Given the description of an element on the screen output the (x, y) to click on. 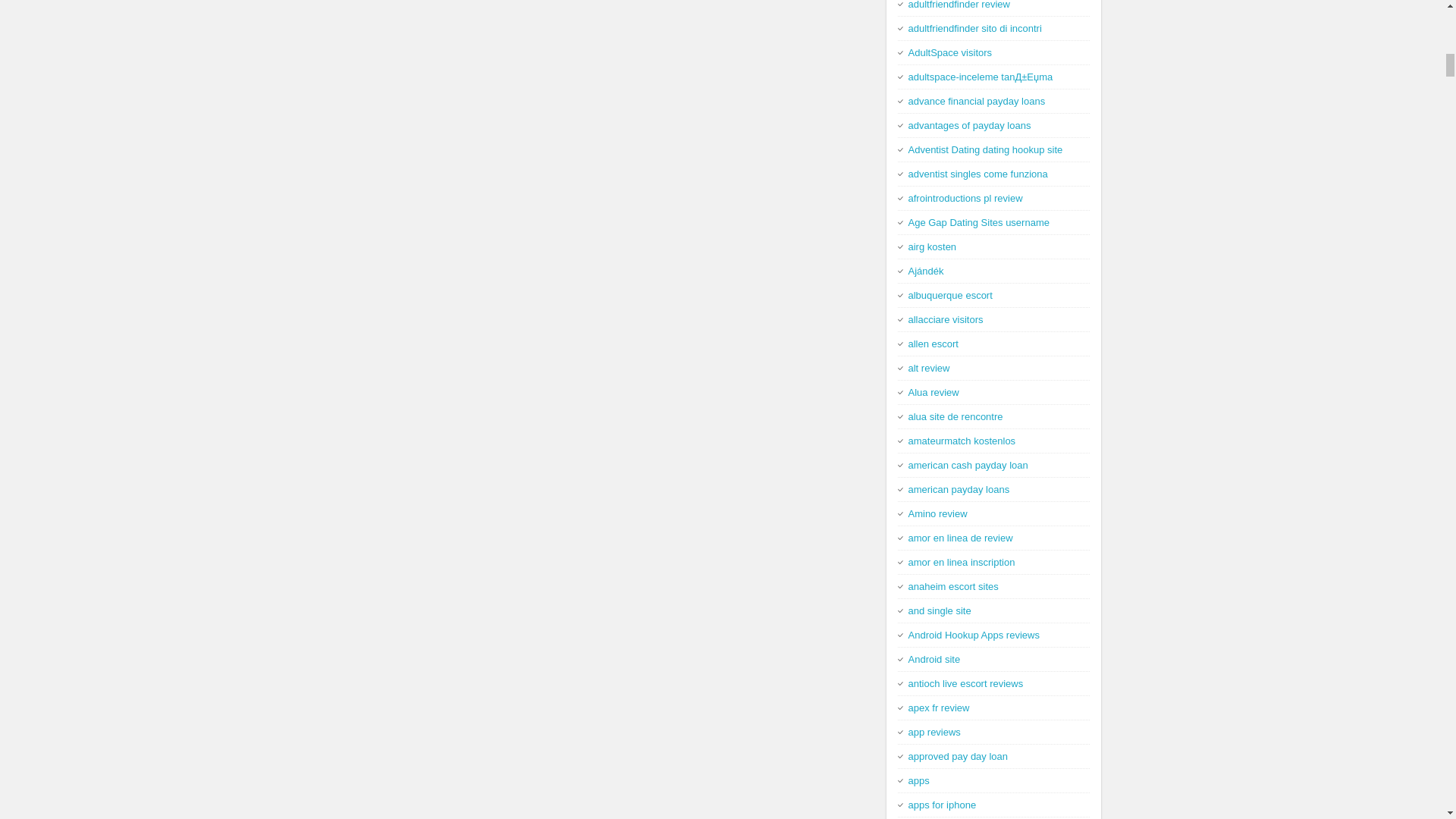
adultfriendfinder sito di incontri (975, 28)
AdultSpace visitors (950, 52)
adultfriendfinder review (959, 4)
